Given the description of an element on the screen output the (x, y) to click on. 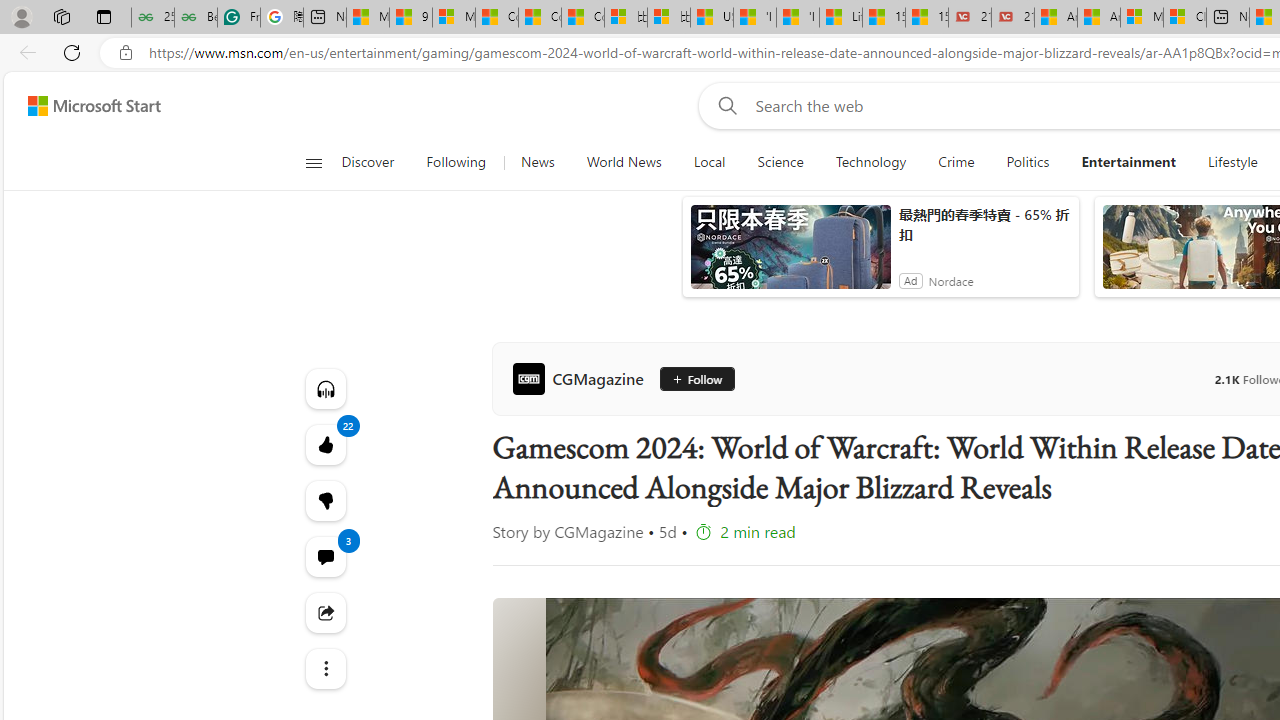
CGMagazine (581, 378)
anim-content (789, 255)
Cloud Computing Services | Microsoft Azure (1184, 17)
Best SSL Certificates Provider in India - GeeksforGeeks (196, 17)
22 Like (324, 444)
